Given the description of an element on the screen output the (x, y) to click on. 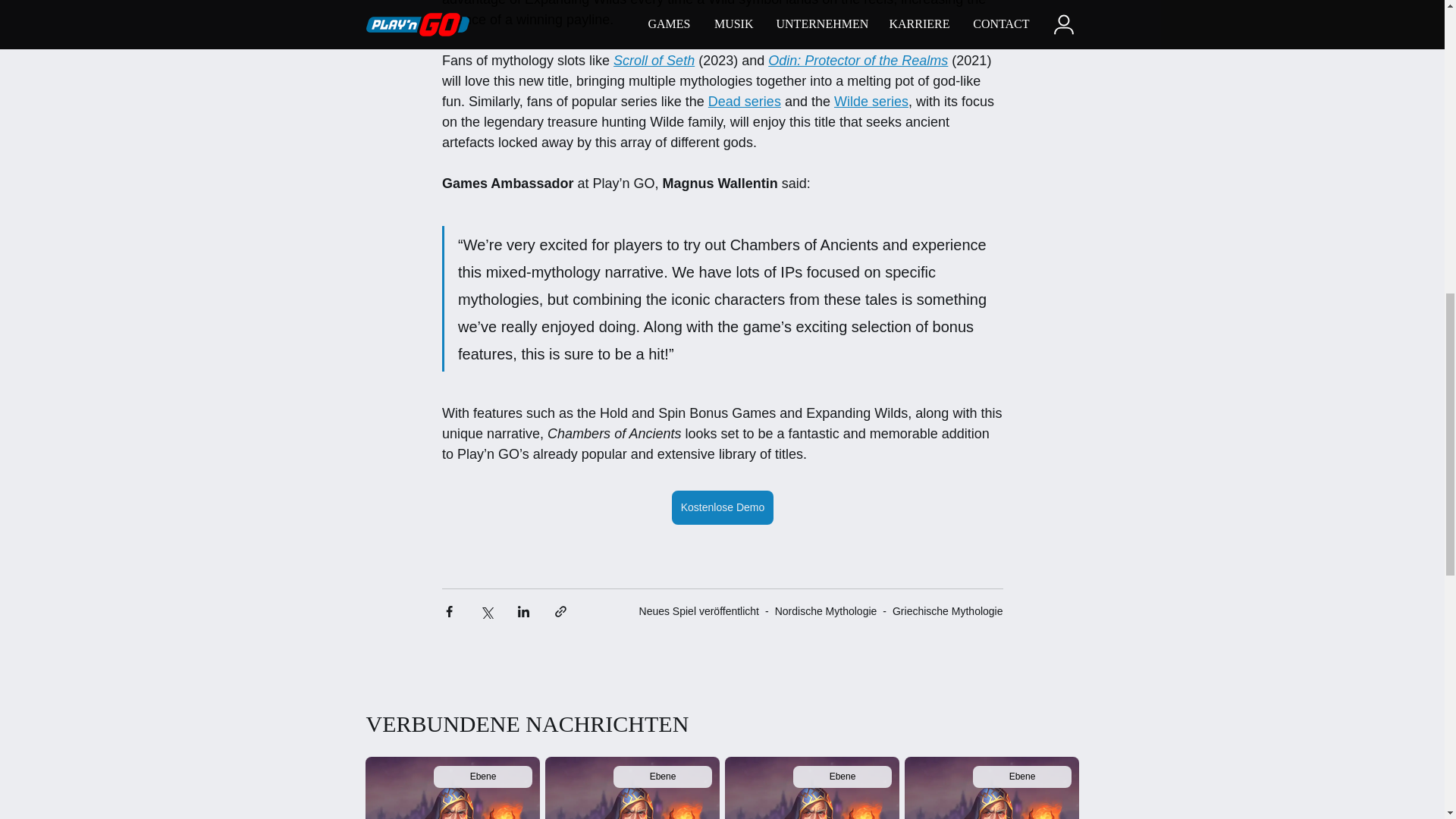
Wilde series (869, 101)
Kostenlose Demo (722, 507)
Odin: Protector of the Realms (857, 60)
Scroll of Seth (653, 60)
Dead series (743, 101)
